Given the description of an element on the screen output the (x, y) to click on. 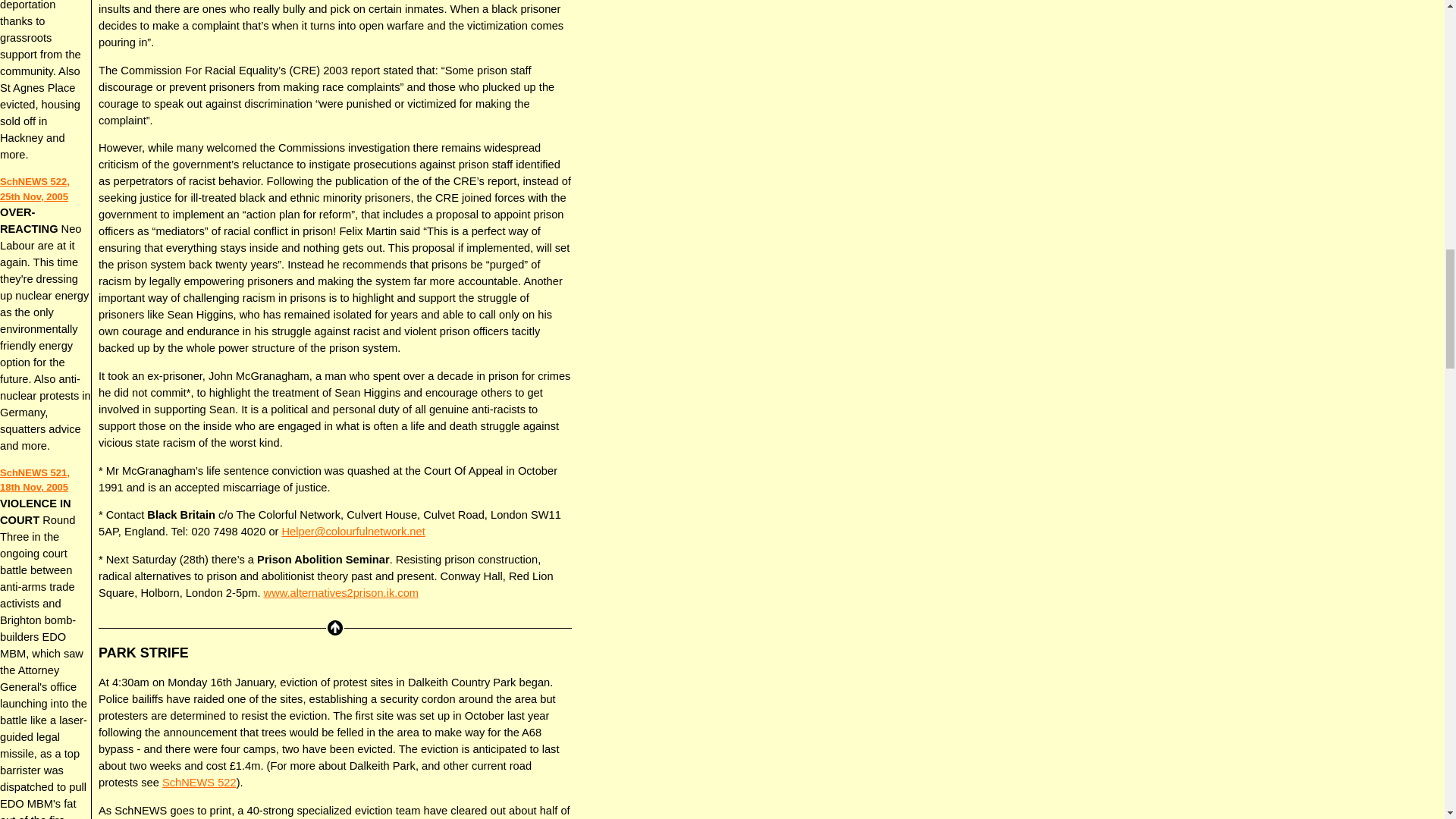
SchNEWS 521, 18th Nov, 2005 (34, 479)
SchNEWS 522, 25th Nov, 2005 (34, 189)
